Given the description of an element on the screen output the (x, y) to click on. 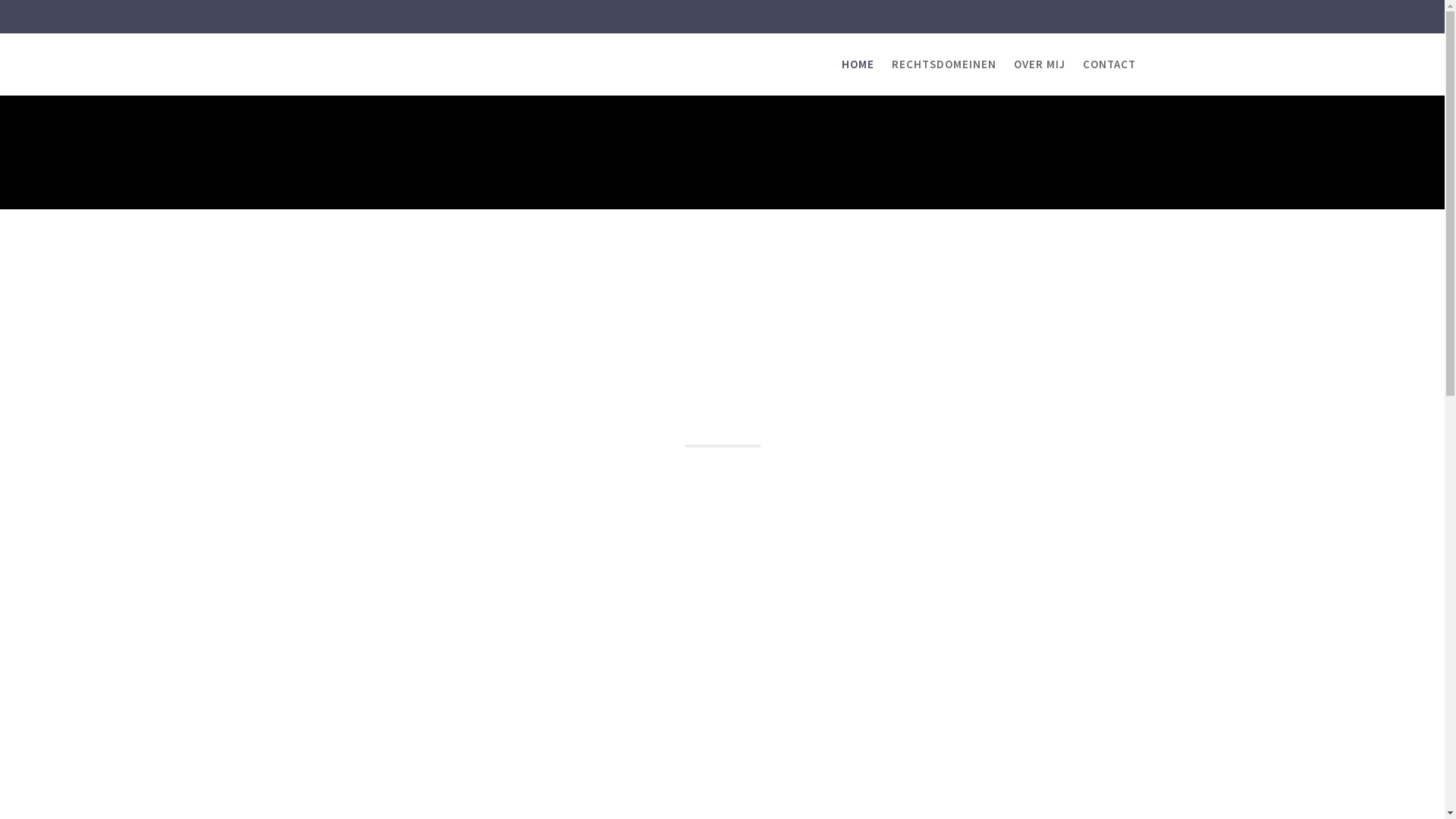
Skip to content Element type: text (0, 0)
CONTACT Element type: text (1109, 64)
RECHTSDOMEINEN Element type: text (944, 64)
OVER MIJ Element type: text (1038, 64)
HOME Element type: text (857, 64)
